Given the description of an element on the screen output the (x, y) to click on. 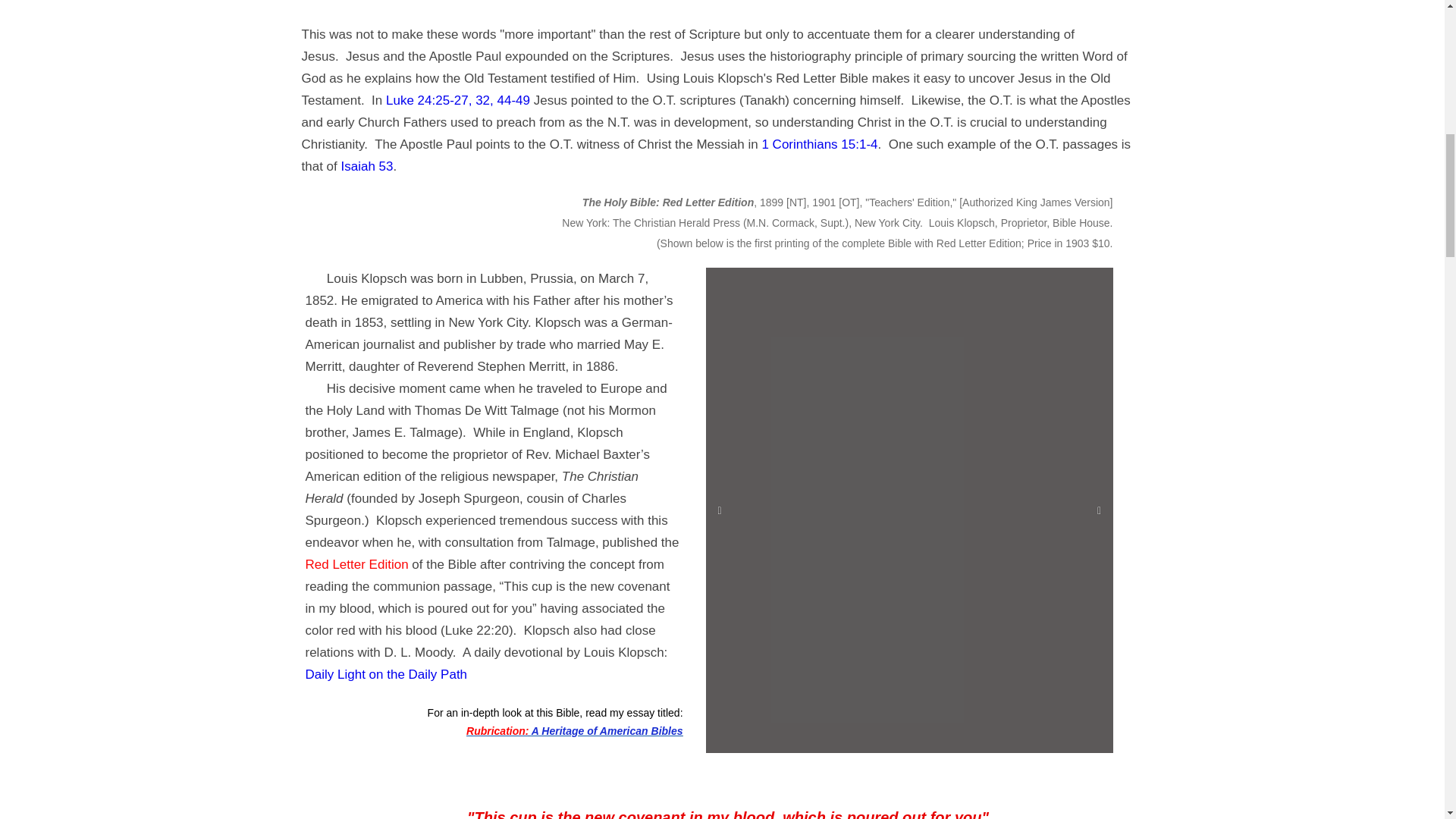
Luke 24:25-27, 32, 44-49 (457, 100)
1 Corinthians 15:1-4 (819, 144)
Isaiah 53 (366, 165)
Daily Light on the Daily Path (385, 674)
Rubrication: A Heritage of American Bibles (573, 730)
